Given the description of an element on the screen output the (x, y) to click on. 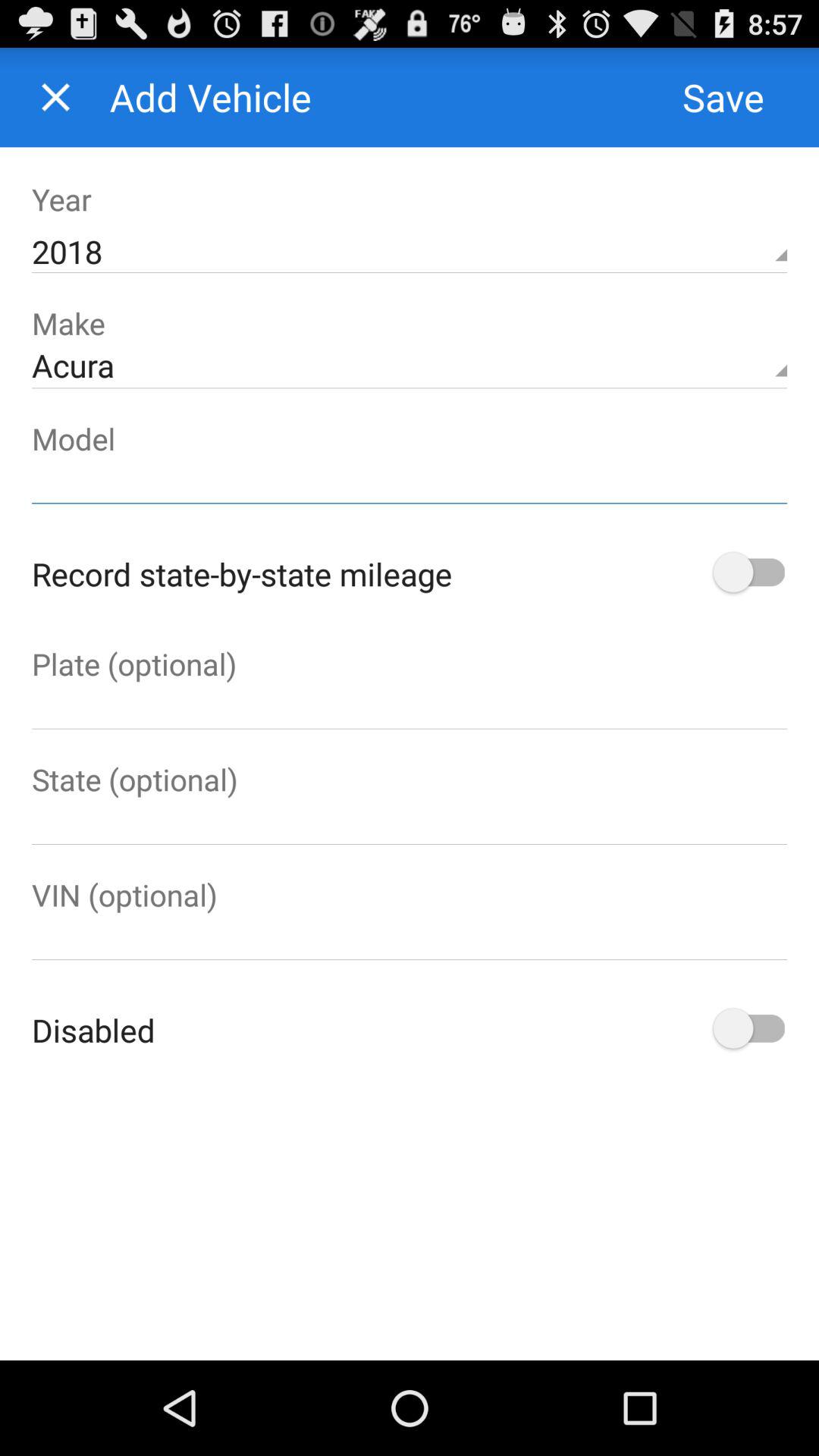
add plate number on vehicle (409, 706)
